Given the description of an element on the screen output the (x, y) to click on. 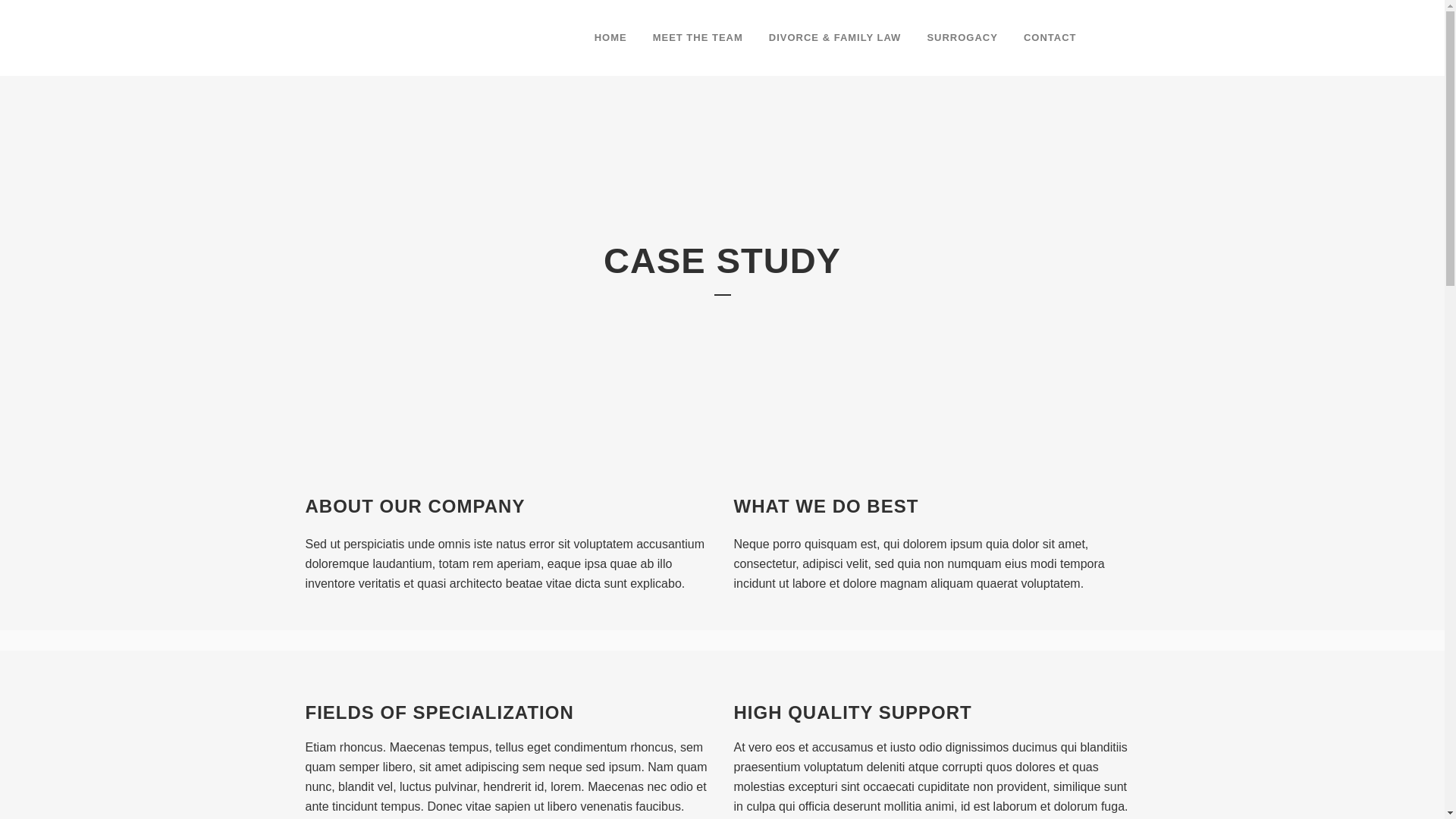
CONTACT Element type: text (1049, 37)
SURROGACY Element type: text (961, 37)
MEET THE TEAM Element type: text (698, 37)
HOME Element type: text (610, 37)
DIVORCE & FAMILY LAW Element type: text (835, 37)
